Given the description of an element on the screen output the (x, y) to click on. 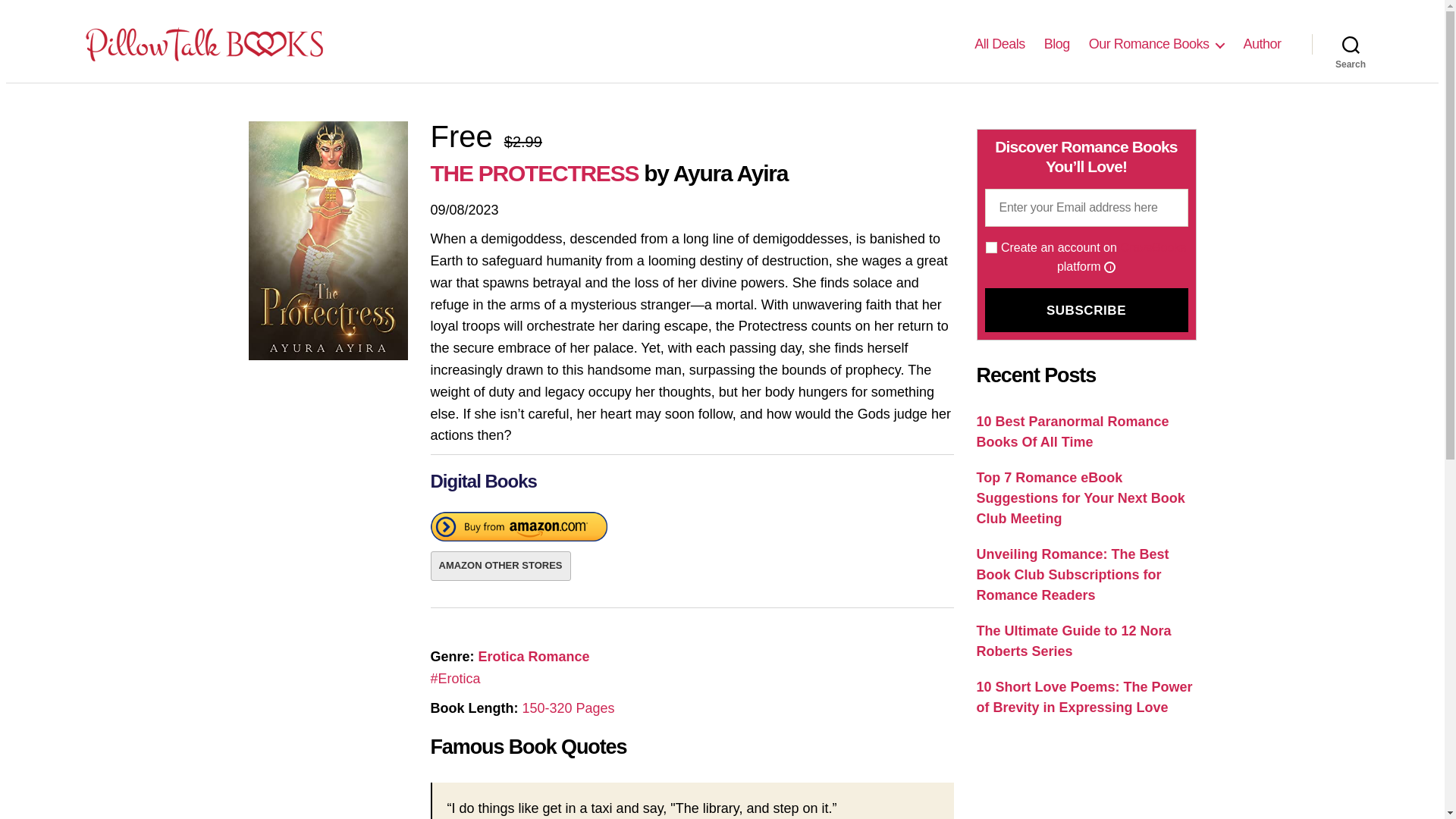
Our Romance Books (1156, 44)
All Deals (999, 44)
true (991, 247)
Author (1262, 44)
Subscribe (1086, 310)
Amazon (518, 529)
Blog (1056, 44)
Search (1350, 43)
